Given the description of an element on the screen output the (x, y) to click on. 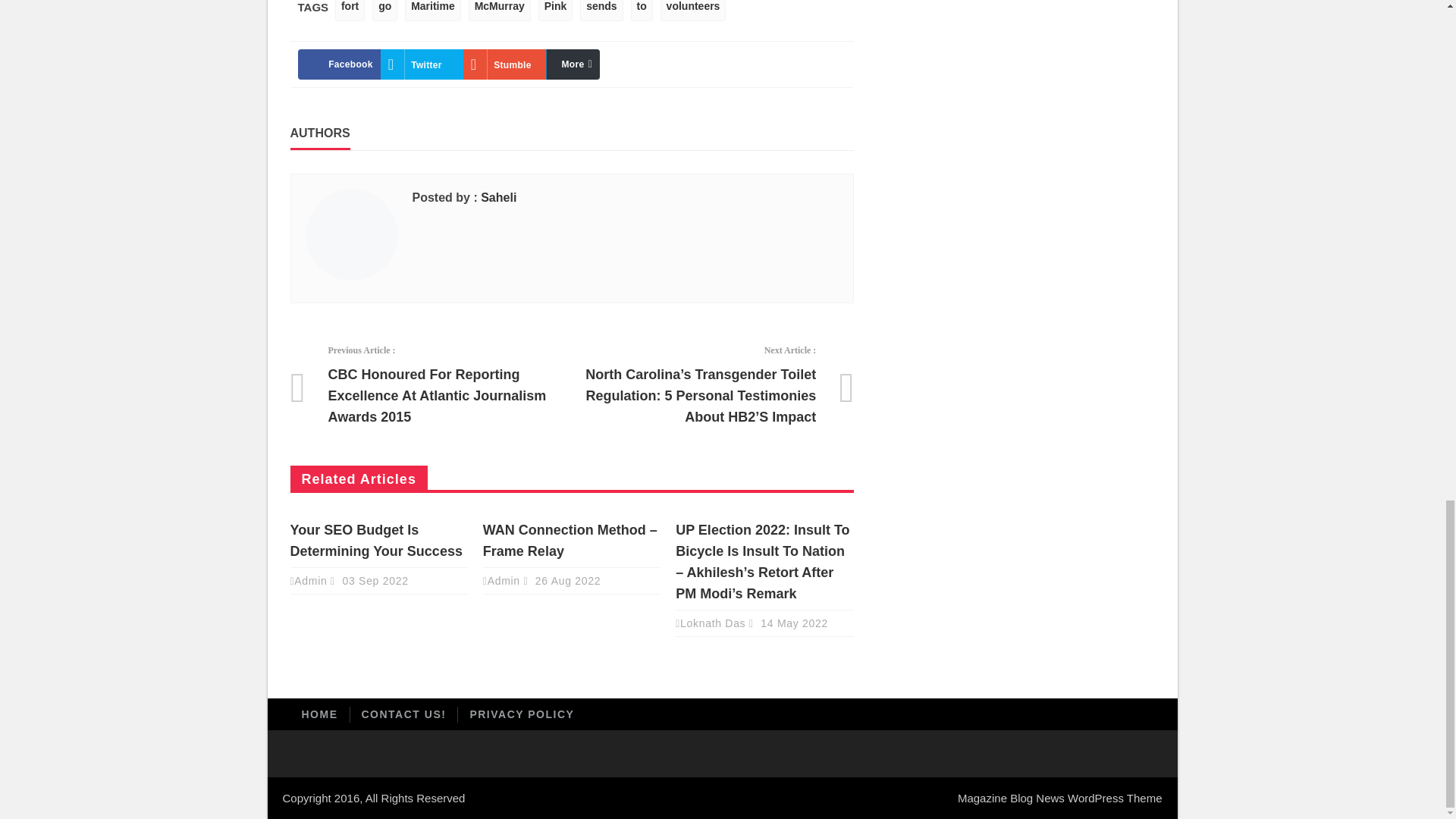
to (641, 10)
fort (349, 10)
McMurray (499, 10)
go (384, 10)
Pink go sends Maritime volunteers to fort McMurray (587, 64)
Pink (555, 10)
Facebook (338, 64)
volunteers (693, 10)
Pink go sends Maritime volunteers to fort McMurray (503, 64)
Posts by Saheli (498, 196)
Your SEO Budget Is Determining Your Success (375, 540)
Maritime (432, 10)
Twitter (421, 64)
sends (601, 10)
